Given the description of an element on the screen output the (x, y) to click on. 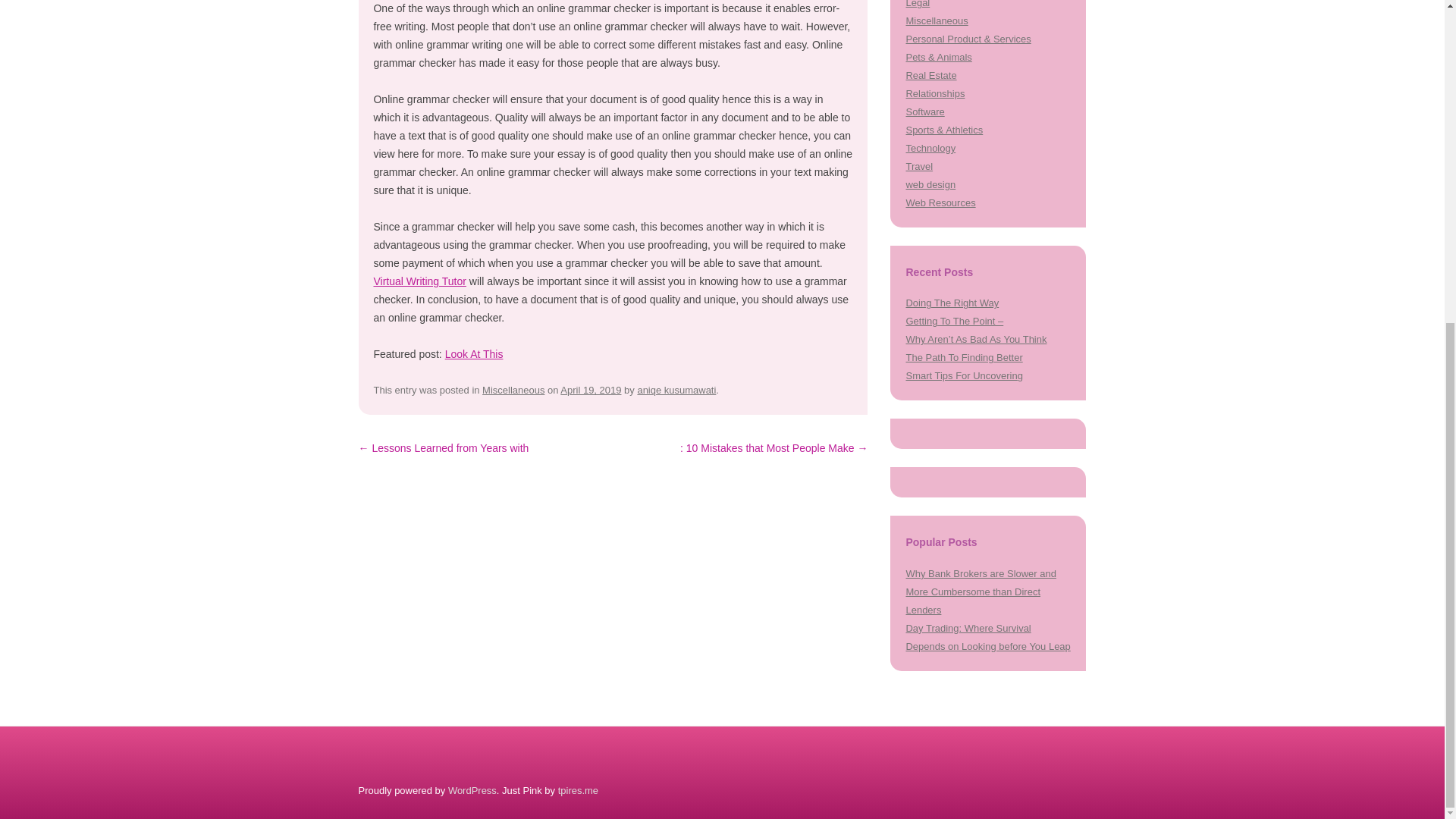
aniqe kusumawati (676, 389)
View all posts by aniqe kusumawati (676, 389)
Look At This (474, 354)
Travel (919, 165)
Software (924, 111)
April 19, 2019 (590, 389)
Technology (930, 147)
Real Estate (930, 75)
6:42 am (590, 389)
Virtual Writing Tutor (418, 281)
web design (930, 184)
Miscellaneous (936, 20)
Semantic Personal Publishing Platform (472, 790)
Legal (917, 4)
